Given the description of an element on the screen output the (x, y) to click on. 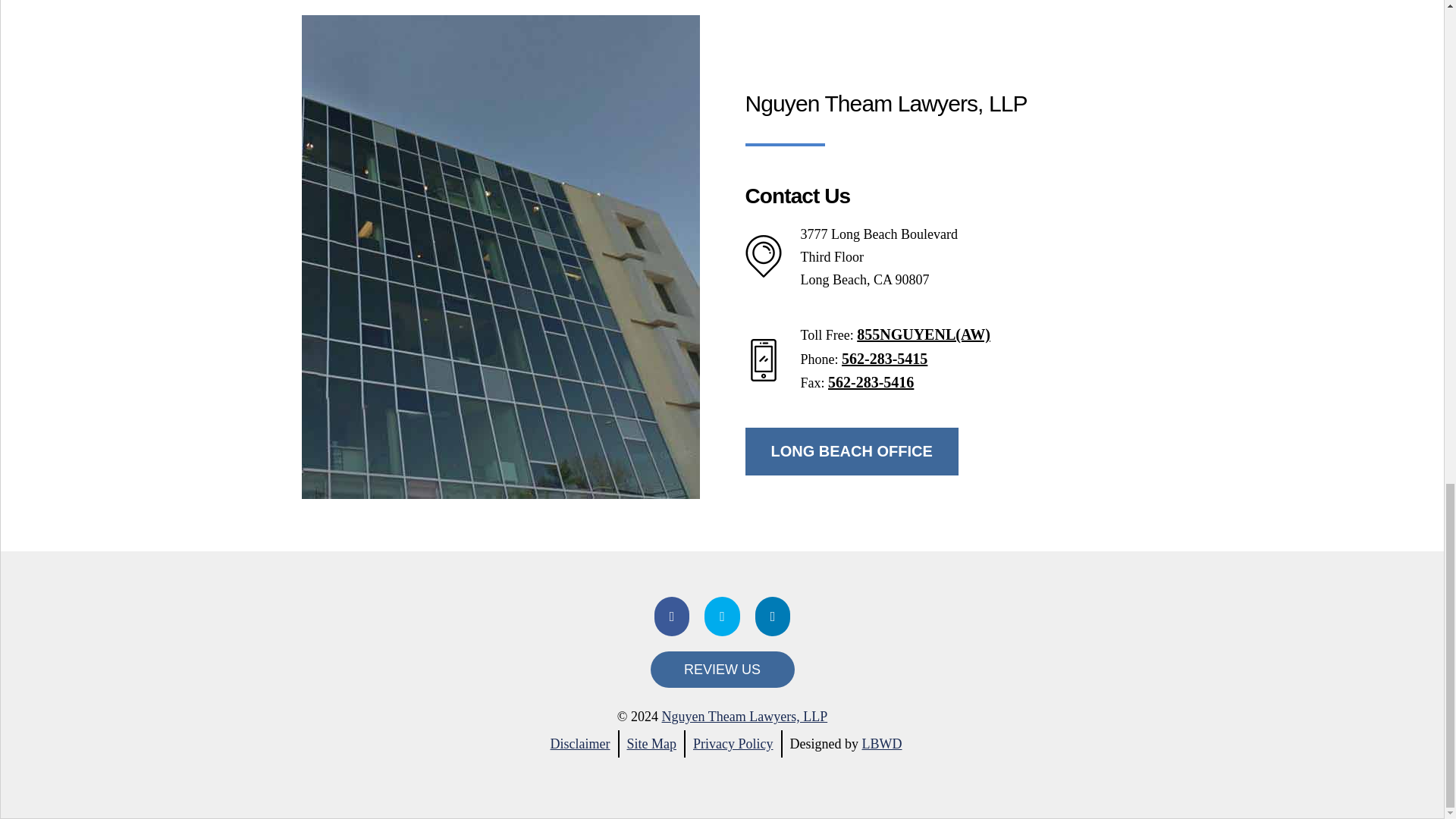
562-283-5415 (884, 358)
Site Map (651, 743)
Nguyen Theam Lawyers, LLP (745, 716)
REVIEW US (722, 669)
LONG BEACH OFFICE (851, 451)
LBWD (881, 743)
562-283-5416 (871, 382)
Privacy Policy (733, 743)
Disclaimer (580, 743)
Nguyen Theam Lawyers, LLP (745, 716)
